Given the description of an element on the screen output the (x, y) to click on. 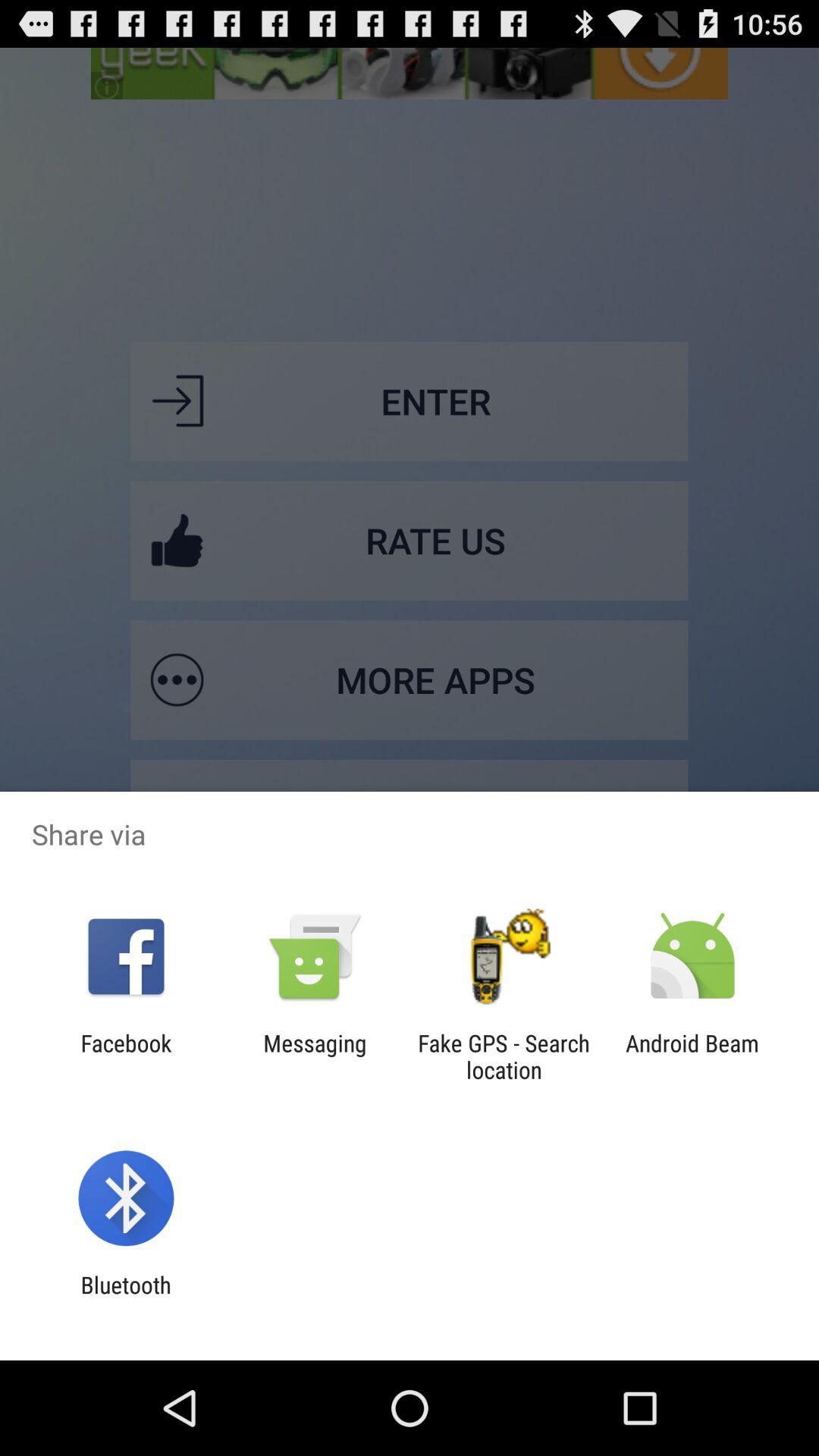
open the icon next to the facebook icon (314, 1056)
